Given the description of an element on the screen output the (x, y) to click on. 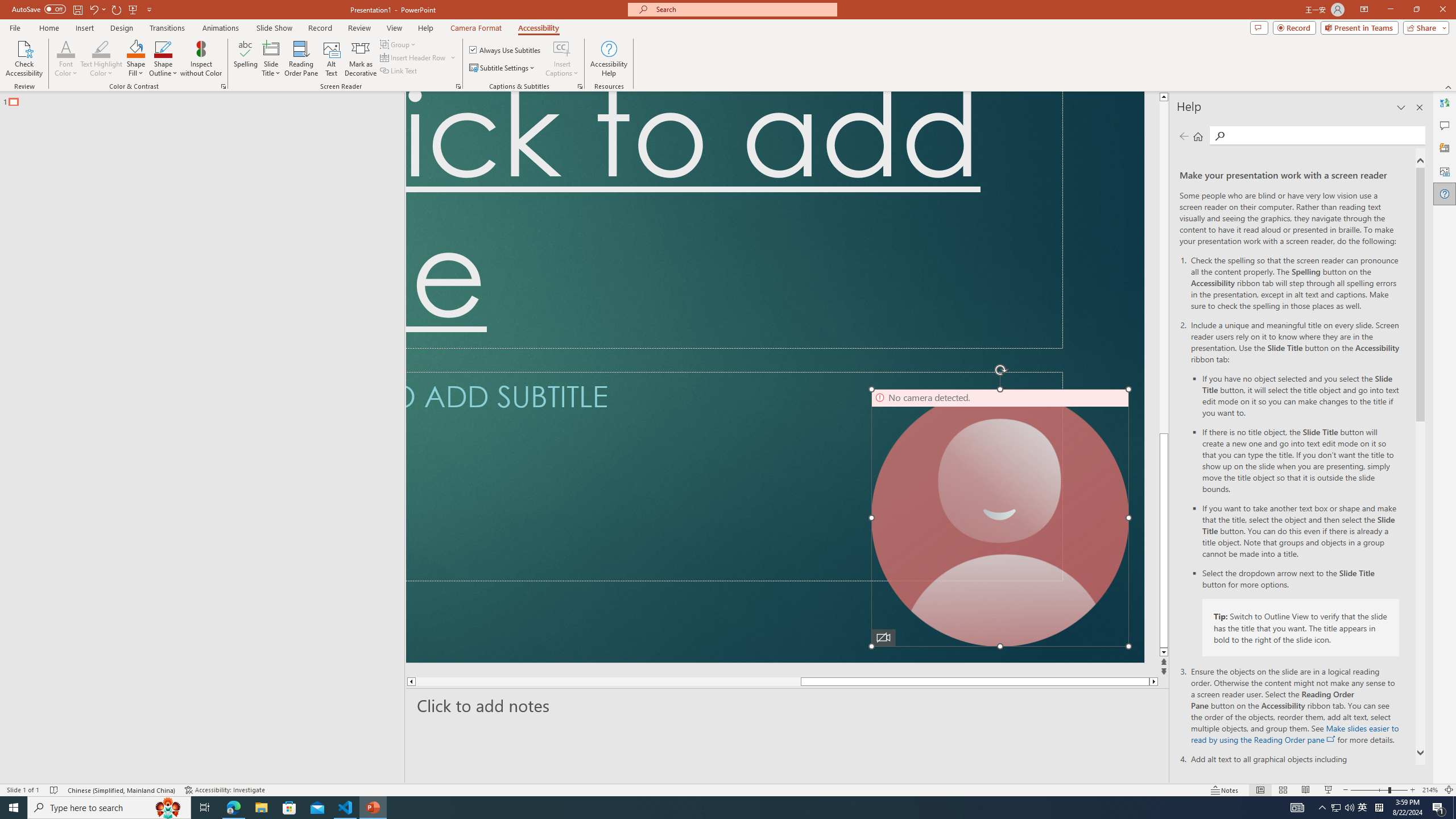
AutomationID: DynamicSearchBoxGleamImage (647, 800)
